Given the description of an element on the screen output the (x, y) to click on. 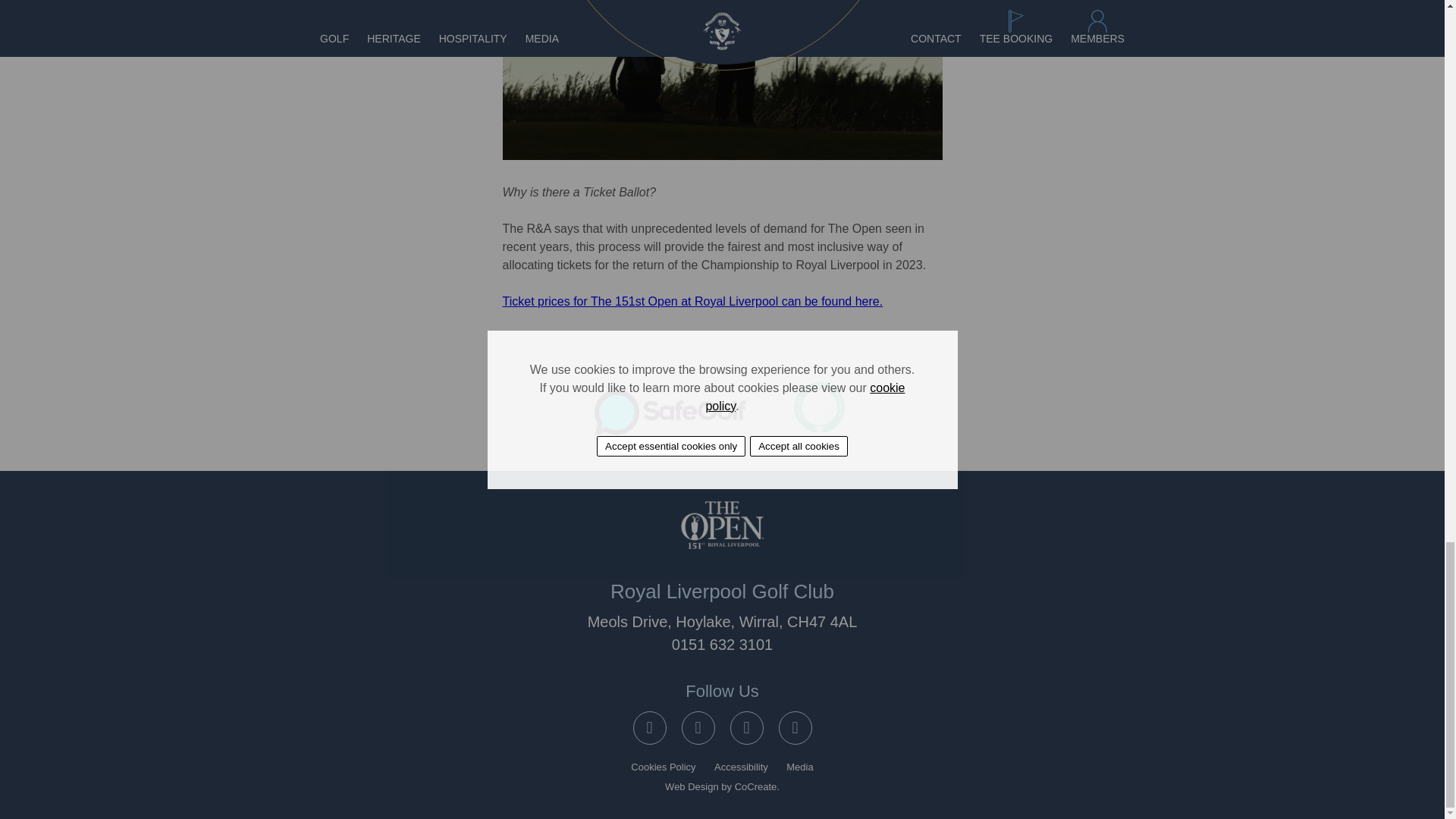
Cookies Policy (662, 767)
Accessibility (741, 767)
